Given the description of an element on the screen output the (x, y) to click on. 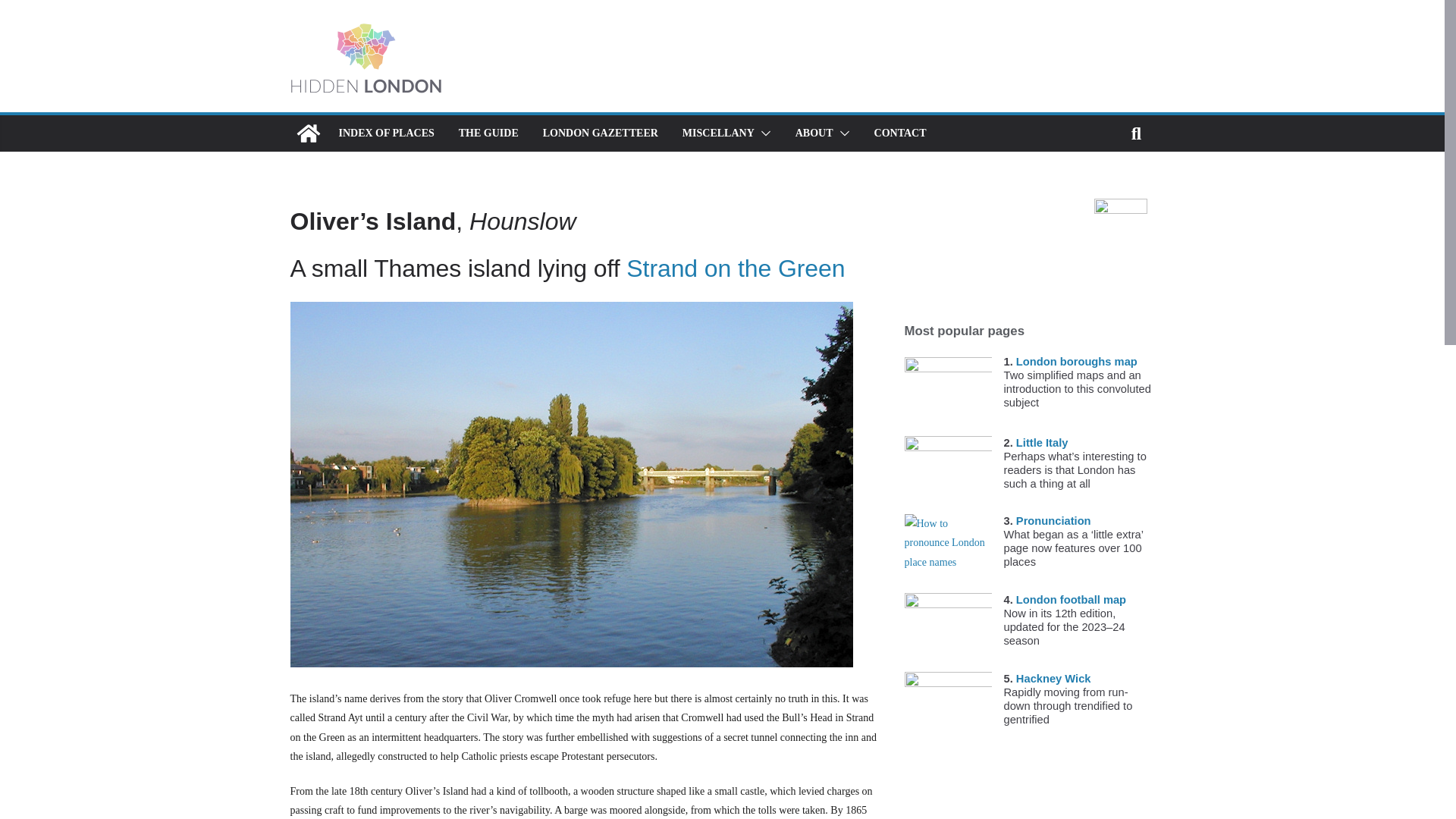
Strand on the Green (735, 267)
London football map (947, 628)
LONDON GAZETTEER (600, 133)
MISCELLANY (718, 133)
Pronunciation (1053, 521)
London boroughs map (947, 392)
Visit a random page (1120, 206)
THE GUIDE (488, 133)
Little Italy (1042, 442)
Little Italy (947, 470)
ABOUT (813, 133)
Hidden London (307, 133)
London football map (1070, 599)
Pronunciation (947, 549)
